Given the description of an element on the screen output the (x, y) to click on. 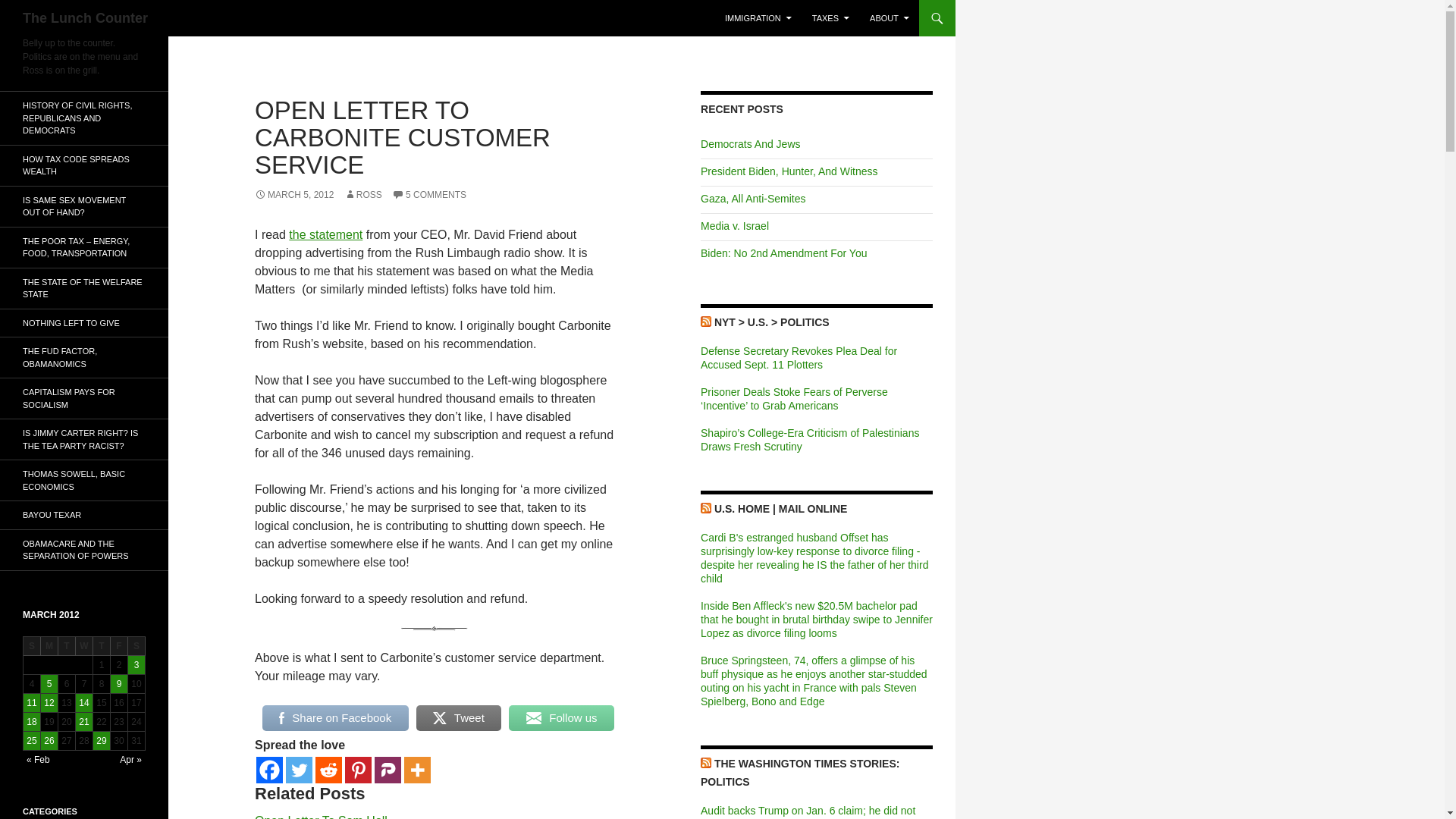
Reddit (328, 769)
ABOUT (889, 18)
endofstory (434, 628)
Follow us (561, 717)
Tweet (459, 717)
Friday (119, 646)
Open Letter To Sam Hall (320, 816)
The Lunch Counter (85, 18)
the statement (325, 234)
5 COMMENTS (428, 194)
IMMIGRATION (758, 18)
All articles on Bayou Texar (84, 515)
More (417, 769)
Share on Facebook (335, 717)
Sunday (31, 646)
